Given the description of an element on the screen output the (x, y) to click on. 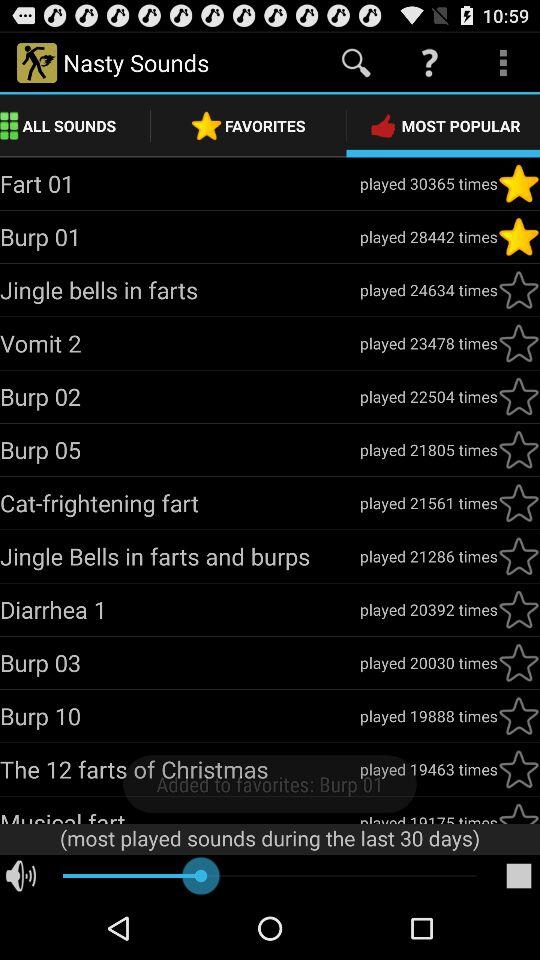
rate (519, 716)
